Given the description of an element on the screen output the (x, y) to click on. 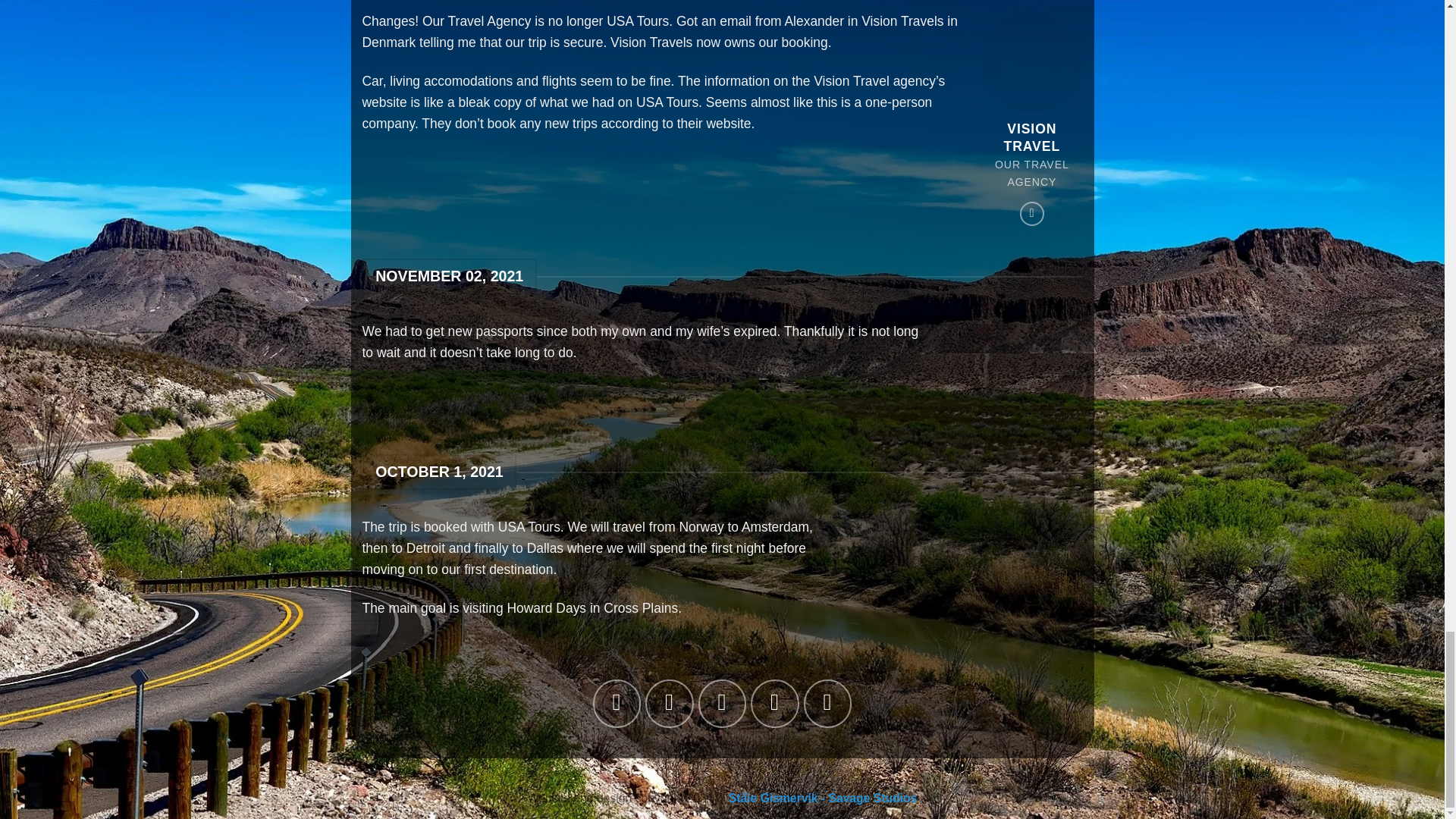
Follow on Facebook (1031, 213)
Share on Twitter (669, 703)
Share on Facebook (616, 703)
Pin on Pinterest (774, 703)
Email to a Friend (721, 703)
Share on Tumblr (827, 703)
